Given the description of an element on the screen output the (x, y) to click on. 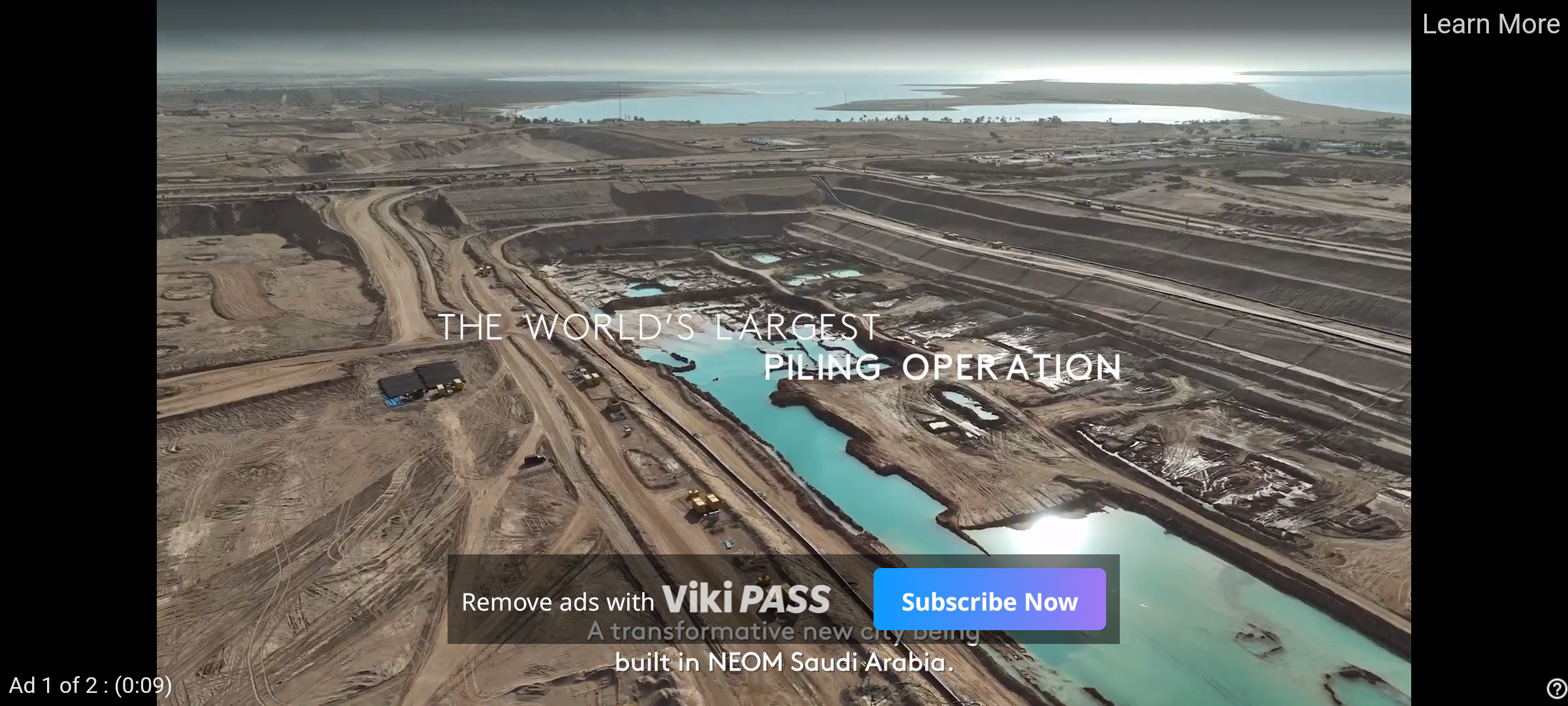
Learn More (1490, 24)
Subscribe Now (989, 599)
Ad 1 of 2 : (0:09) (90, 684)
help_outline_white_24dp_with_3px_trbl_padding (1553, 688)
